Given the description of an element on the screen output the (x, y) to click on. 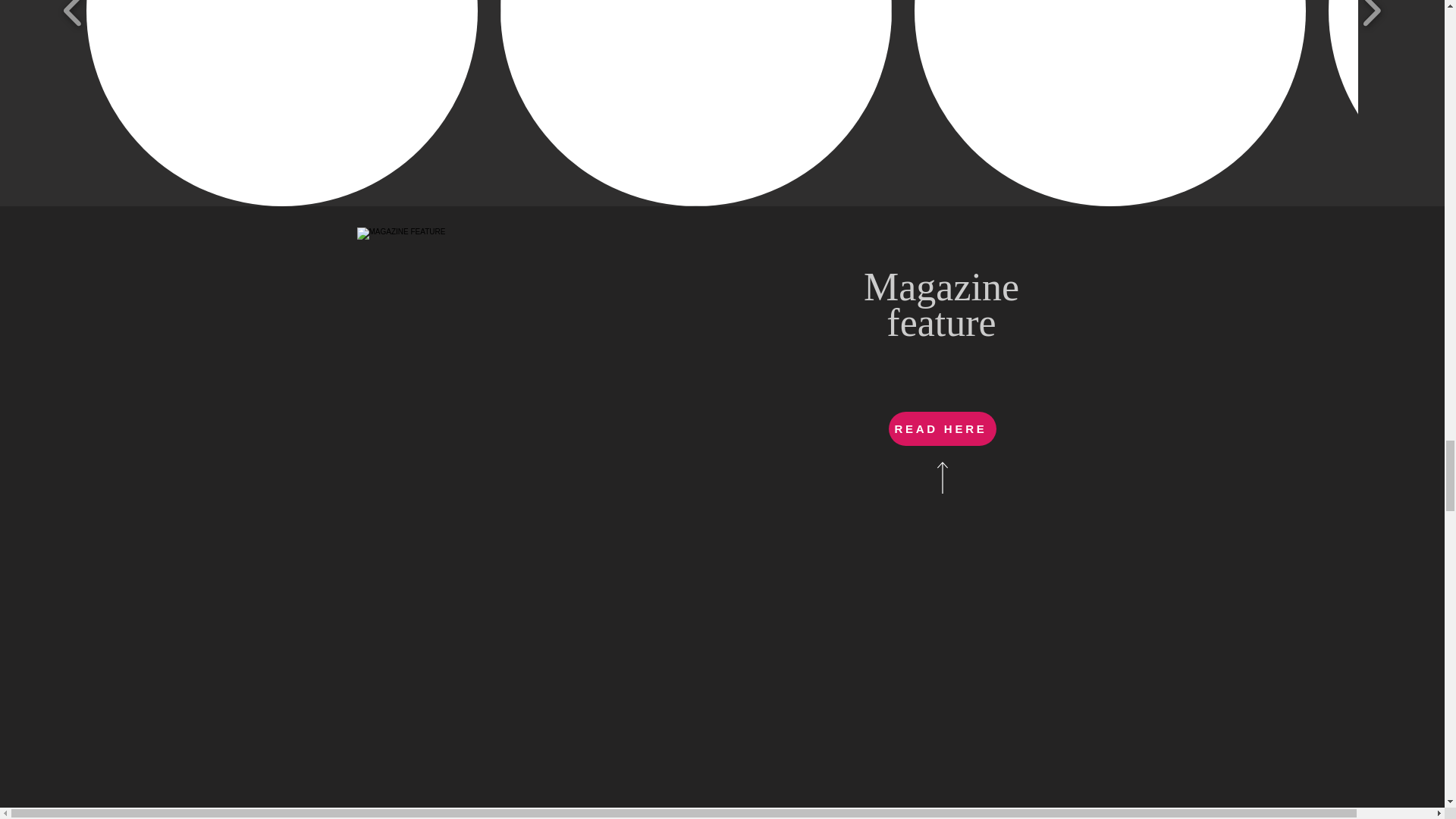
READ HERE (941, 428)
